Given the description of an element on the screen output the (x, y) to click on. 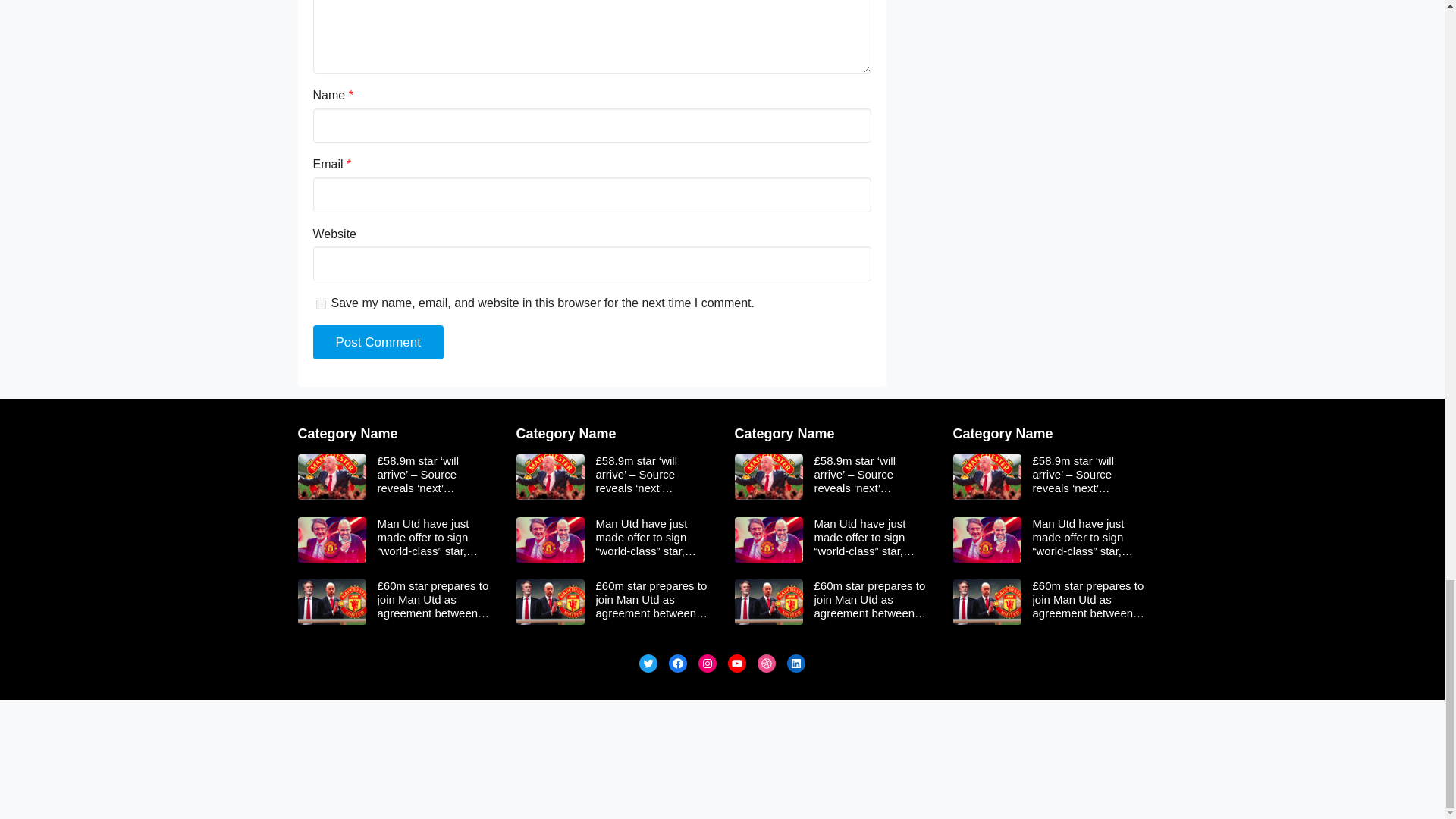
Dribbble (766, 663)
Instagram (707, 663)
Twitter (648, 663)
Facebook (677, 663)
Category Name (783, 433)
Post Comment (377, 342)
Post Comment (377, 342)
Category Name (565, 433)
YouTube (736, 663)
Category Name (347, 433)
